Given the description of an element on the screen output the (x, y) to click on. 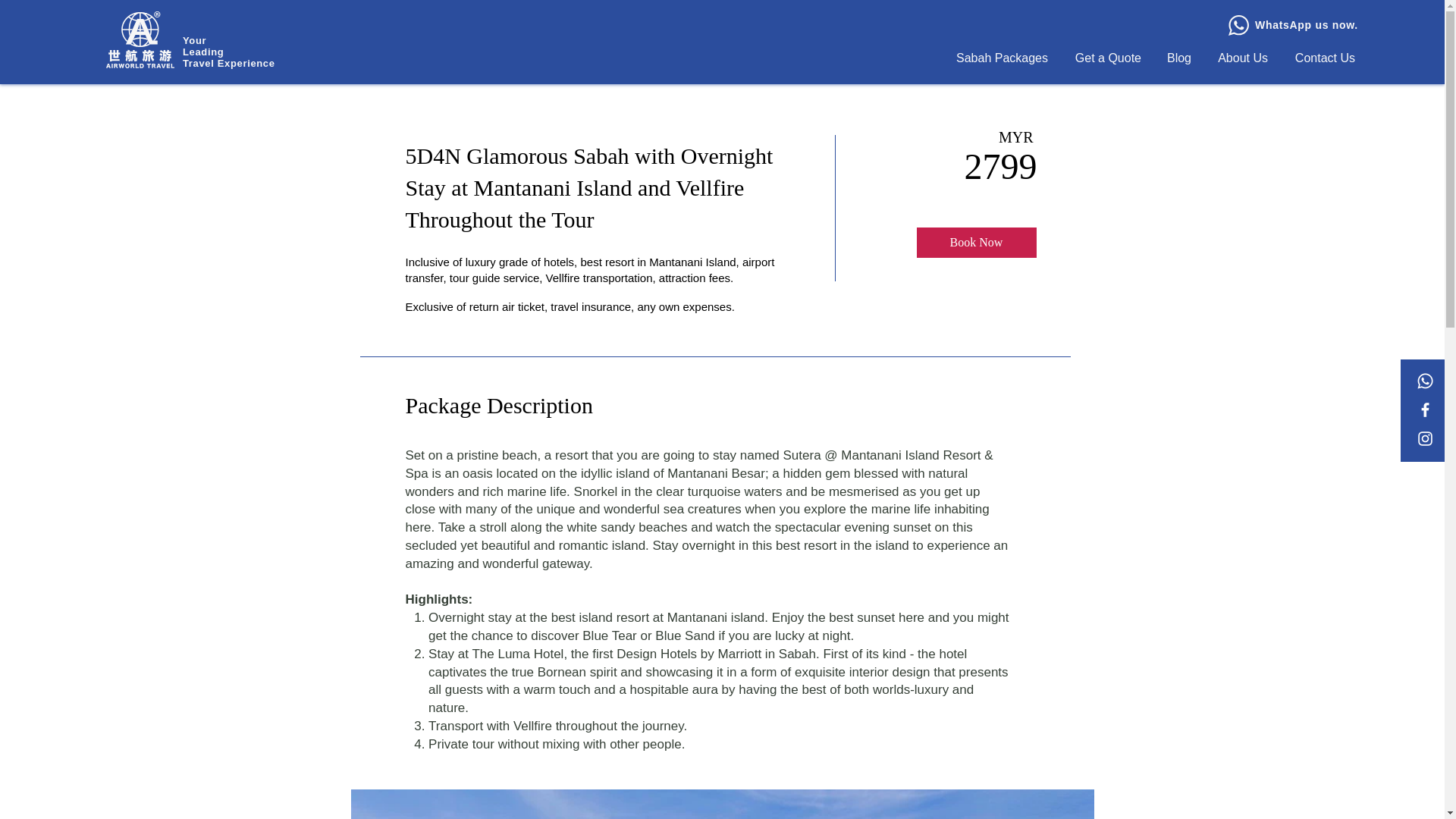
Contact Us (1323, 57)
About Us (1240, 57)
Blog (1177, 57)
Get a Quote (1106, 57)
WhatsApp us now. (1306, 24)
Book Now (975, 242)
Sabah Packages (999, 57)
